Given the description of an element on the screen output the (x, y) to click on. 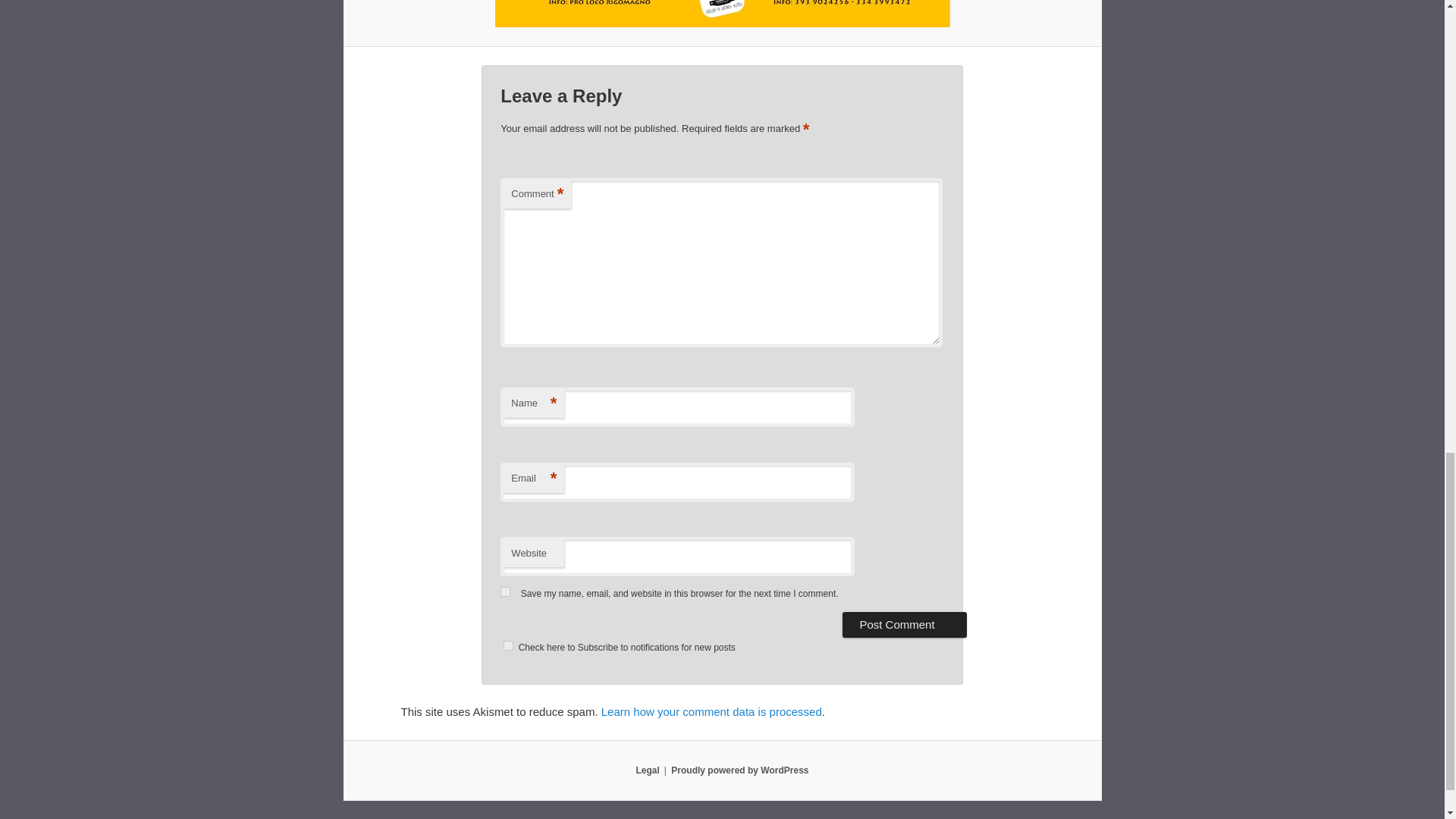
yes (505, 592)
Post Comment (904, 624)
john doan CP Italty poster (721, 13)
Semantic Personal Publishing Platform (739, 769)
1 (508, 645)
